Given the description of an element on the screen output the (x, y) to click on. 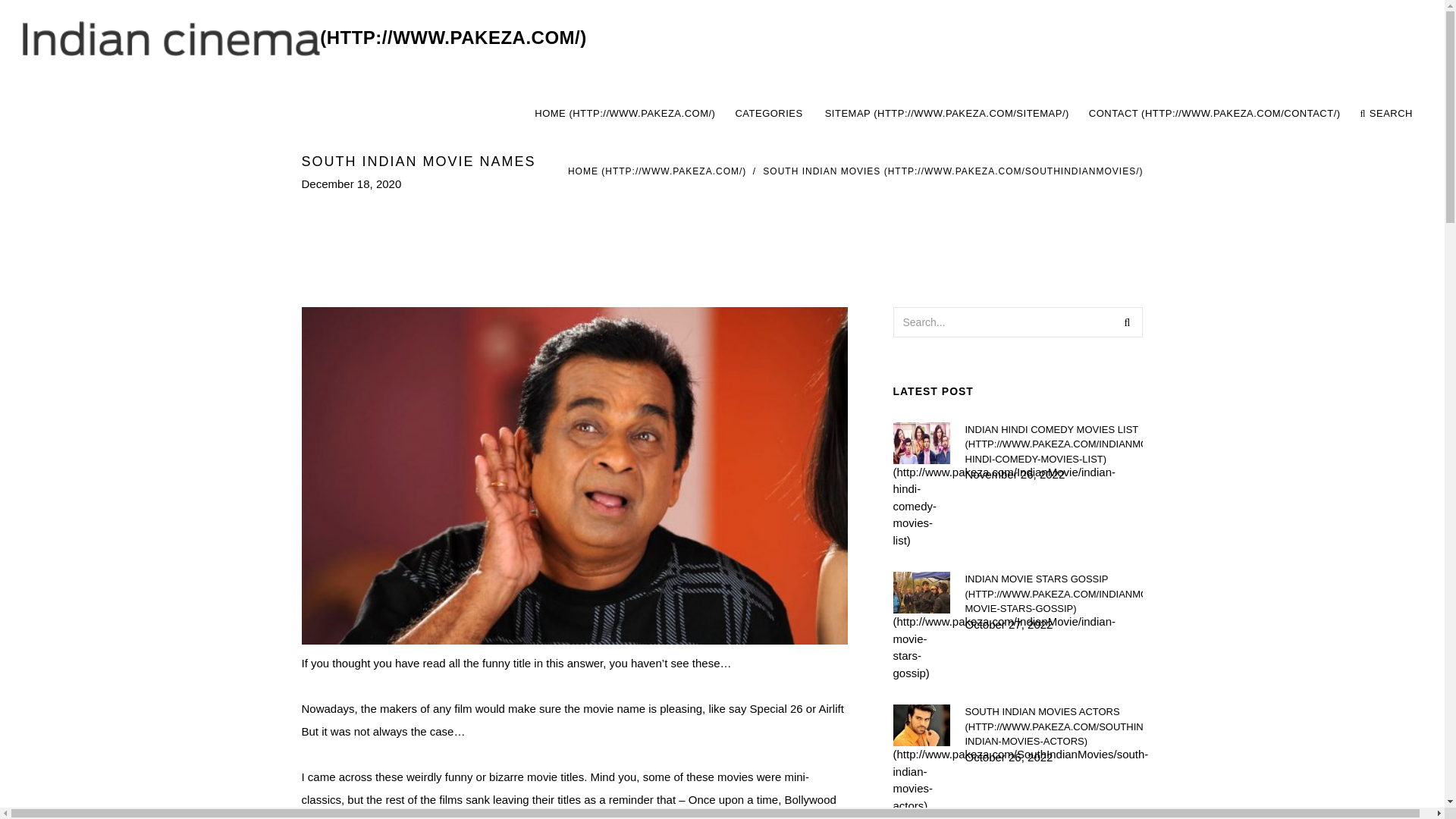
CONTACT (1214, 113)
SITEMAP (946, 113)
SEARCH (1386, 113)
Search (1126, 321)
CATEGORIES (769, 113)
Indian cinema (304, 38)
HOME (656, 171)
INDIAN MOVIE STARS GOSSIP (1052, 593)
SOUTH INDIAN MOVIES ACTORS (1052, 726)
HOME (624, 113)
